Given the description of an element on the screen output the (x, y) to click on. 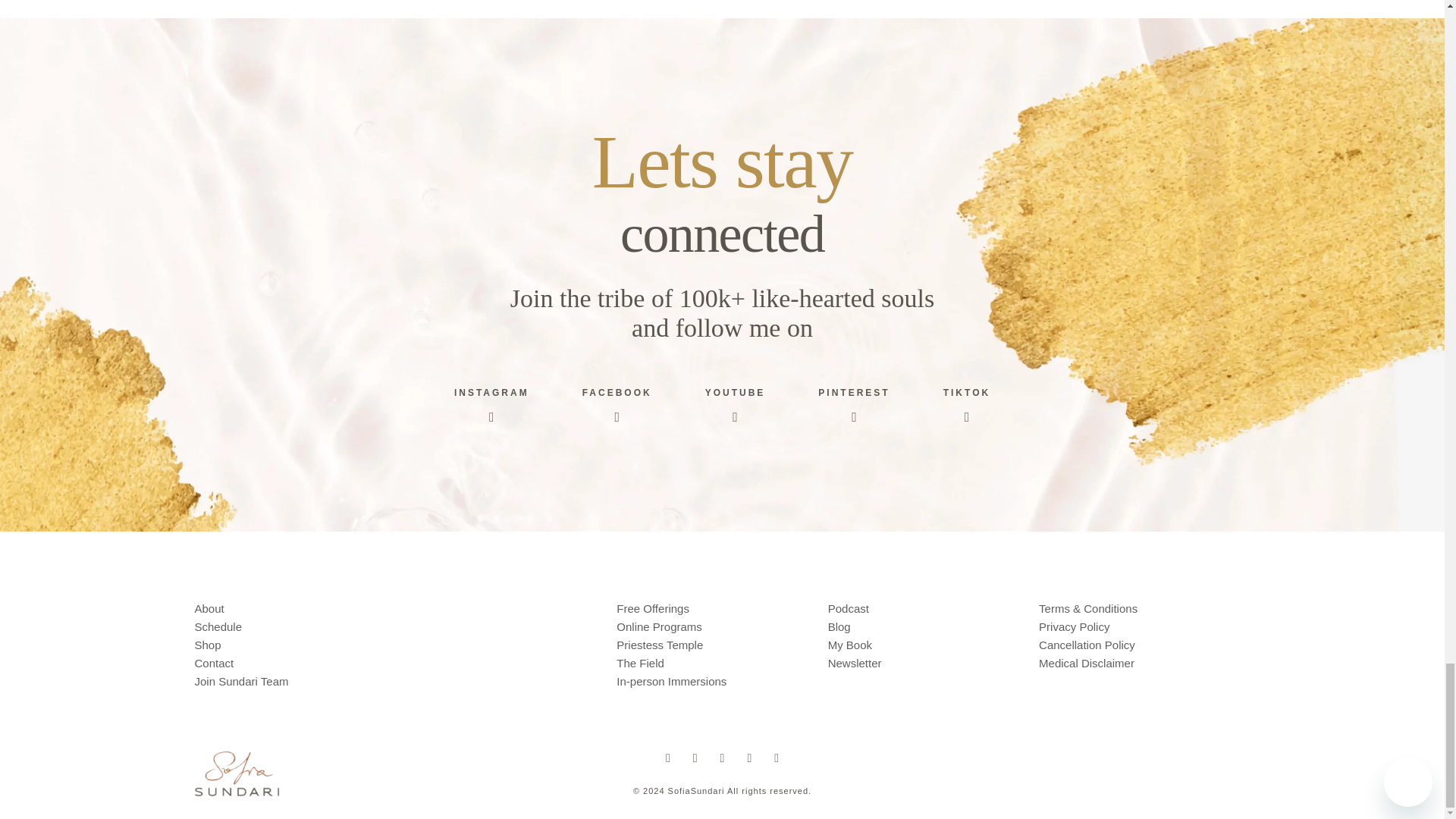
PINTEREST (853, 406)
Tiktok (776, 757)
Privacy Policy (1074, 626)
The Field (639, 662)
TIKTOK (966, 406)
Pinterest (748, 757)
Cancellation Policy (1087, 644)
Newsletter (855, 662)
Blog (839, 626)
Contact (212, 662)
